Given the description of an element on the screen output the (x, y) to click on. 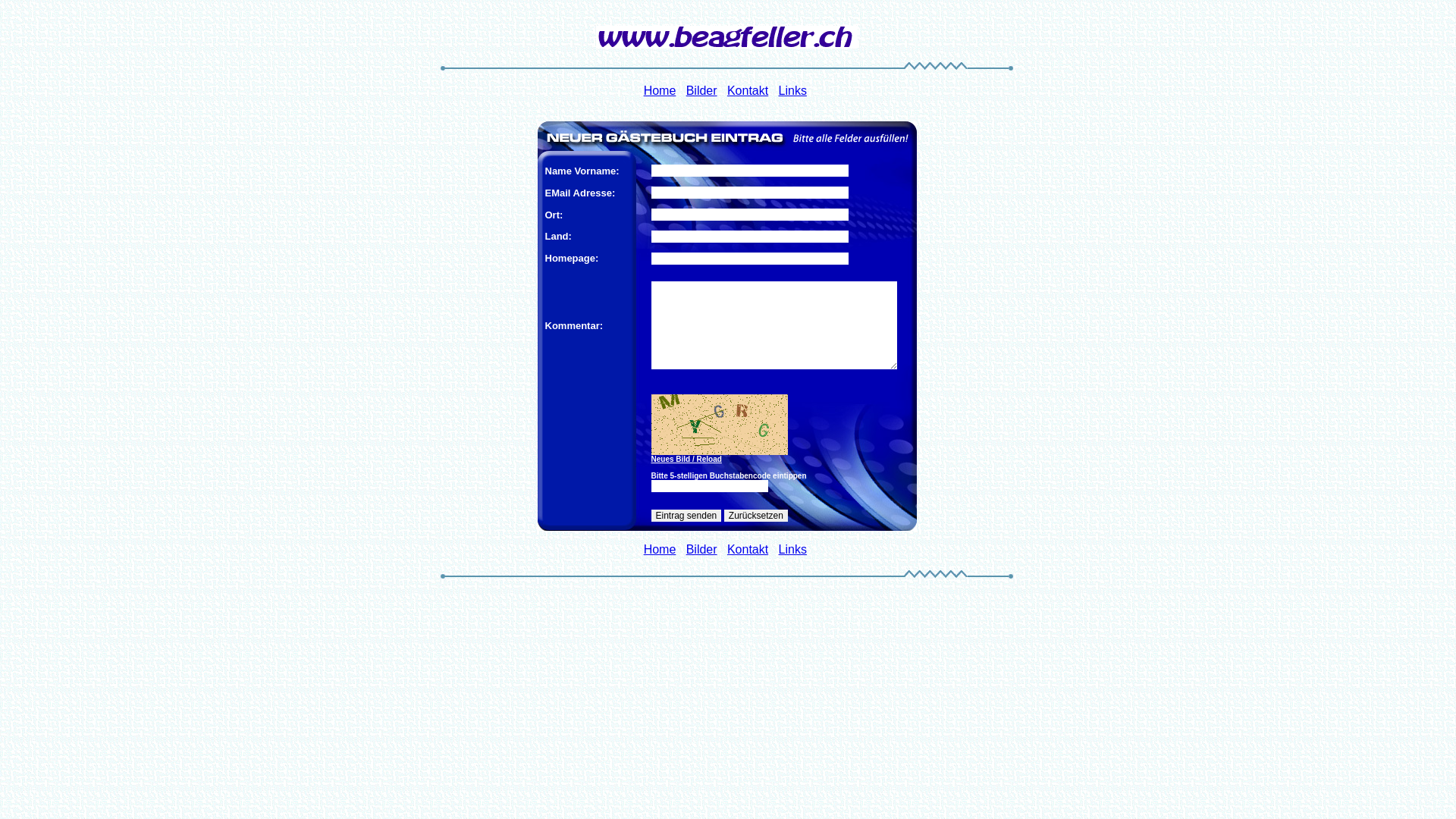
Neues Bild / Reload Element type: text (779, 459)
Kontakt Element type: text (747, 90)
Home Element type: text (659, 548)
Links Element type: text (792, 548)
Bilder Element type: text (701, 90)
Kontakt Element type: text (747, 548)
Bilder Element type: text (701, 548)
Home Element type: text (659, 90)
Links Element type: text (792, 90)
Eintrag senden Element type: text (685, 515)
